Given the description of an element on the screen output the (x, y) to click on. 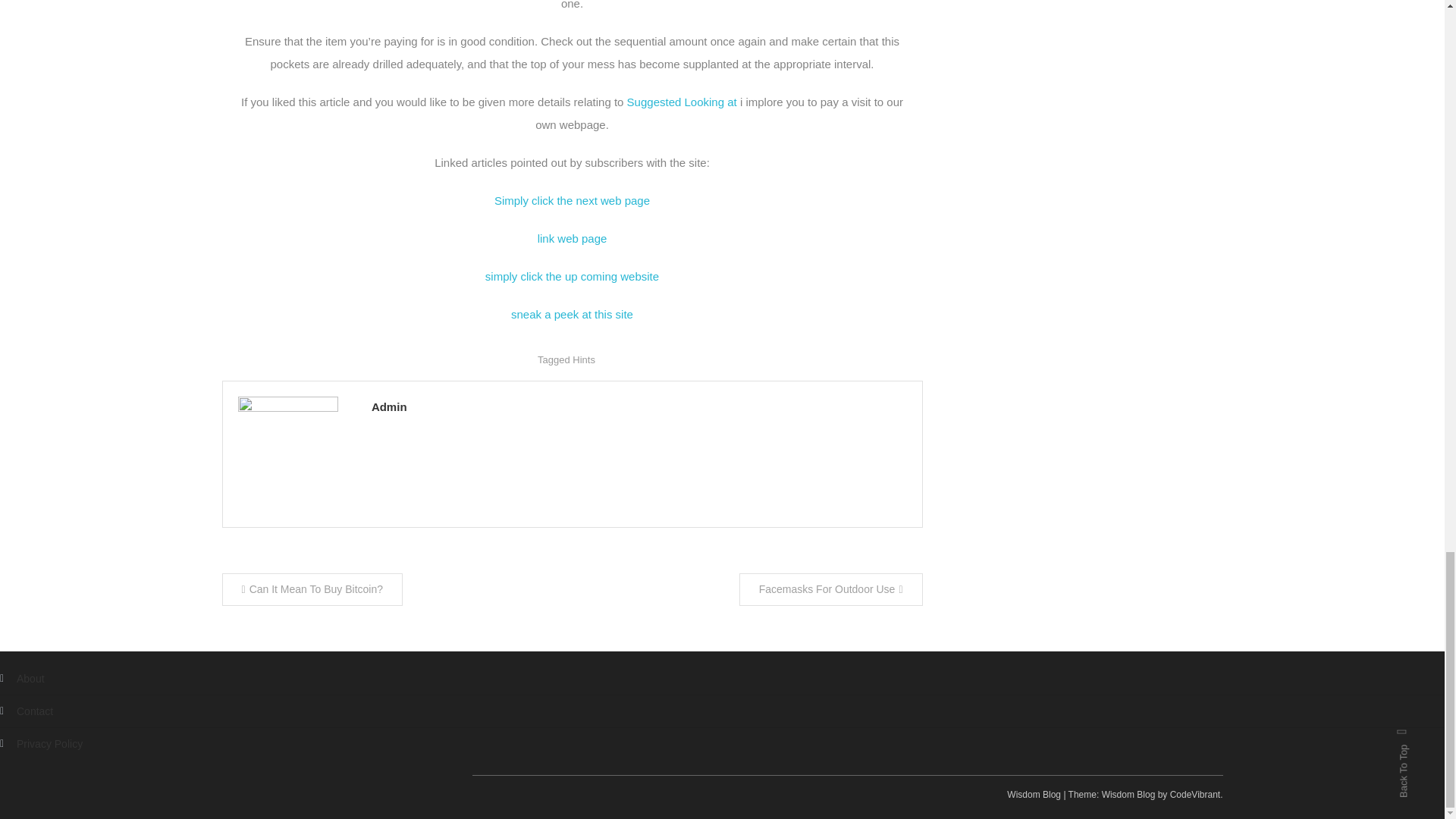
Can It Mean To Buy Bitcoin? (312, 589)
simply click the up coming website (571, 276)
Hints (583, 359)
link web page (572, 237)
About (22, 678)
Simply click the next web page (572, 200)
Facemasks For Outdoor Use (831, 589)
Admin (639, 406)
Suggested Looking at (681, 101)
sneak a peek at this site (572, 314)
